Given the description of an element on the screen output the (x, y) to click on. 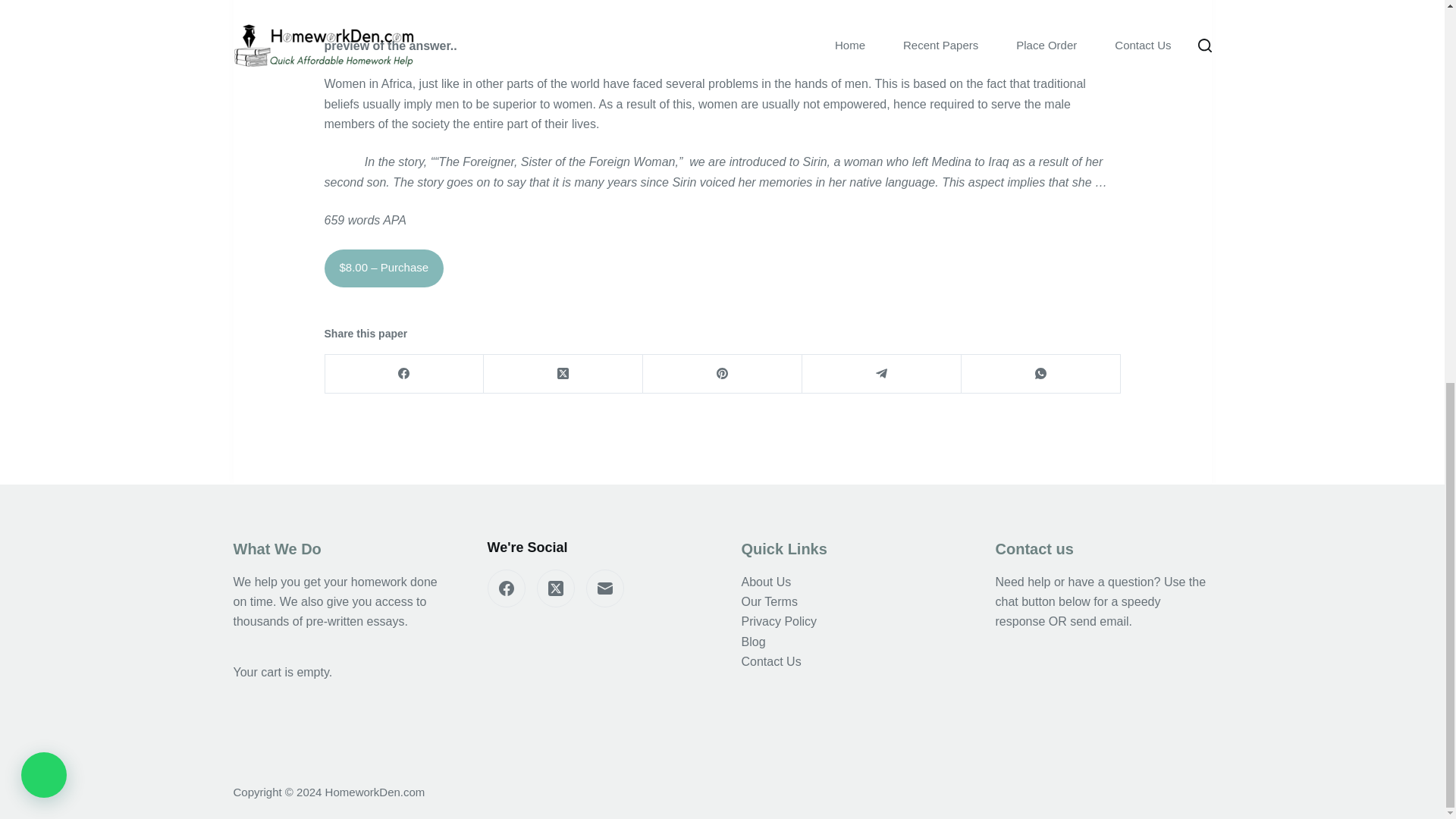
Blog (753, 641)
About Us (766, 581)
Contact Us (771, 661)
send email (1099, 621)
Privacy Policy (778, 621)
Our Terms (769, 601)
